Given the description of an element on the screen output the (x, y) to click on. 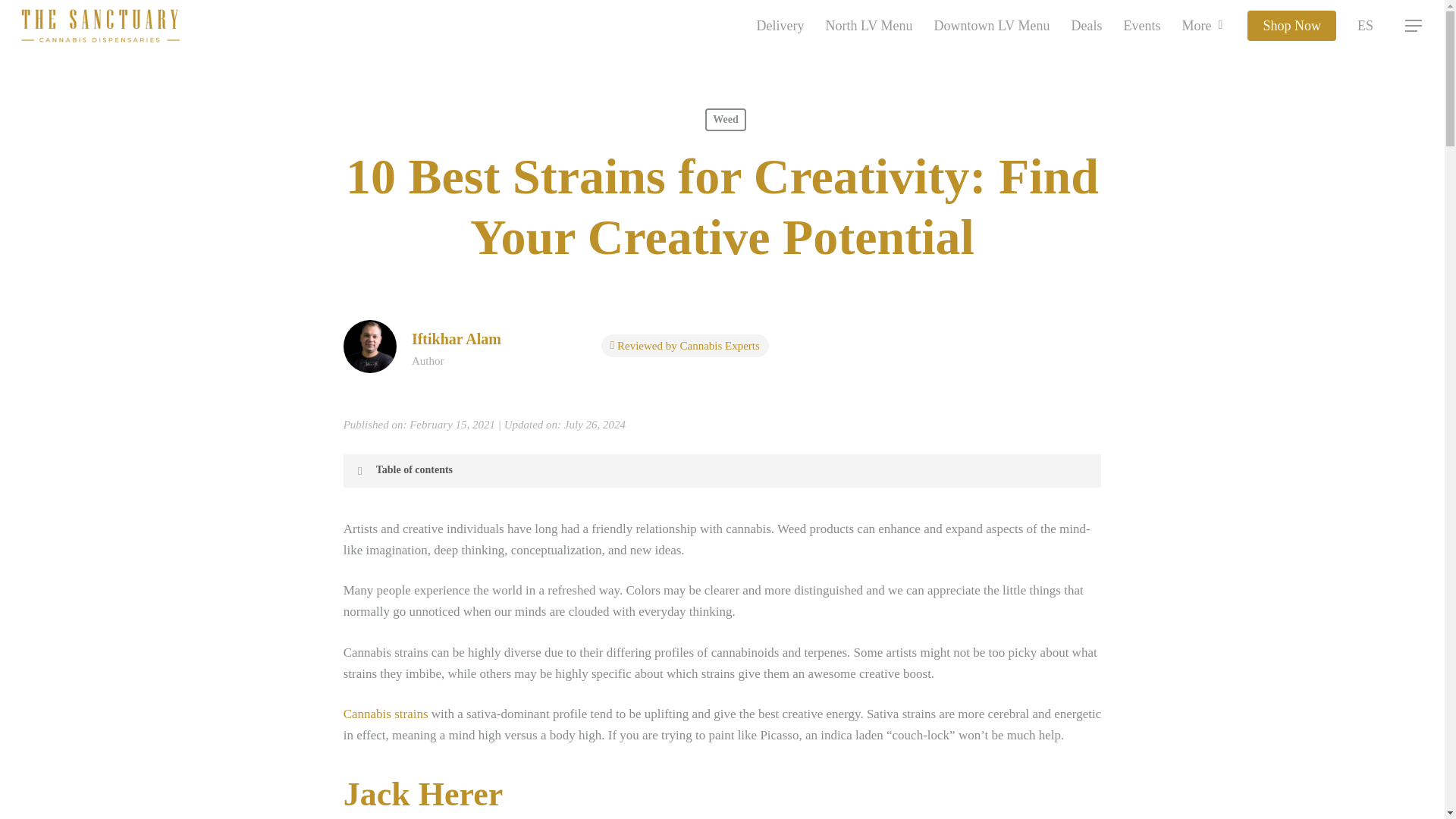
ES (1365, 26)
Weed (724, 119)
Events (1141, 26)
Menu (1414, 26)
More (1203, 26)
Delivery (779, 26)
Shop Now (1291, 26)
Table of contents (722, 470)
Iftikhar Alam (456, 338)
Downtown LV Menu (991, 26)
North LV Menu (868, 26)
Best Strains for Creativity (369, 346)
Cannabis strains (385, 713)
Deals (1085, 26)
